Given the description of an element on the screen output the (x, y) to click on. 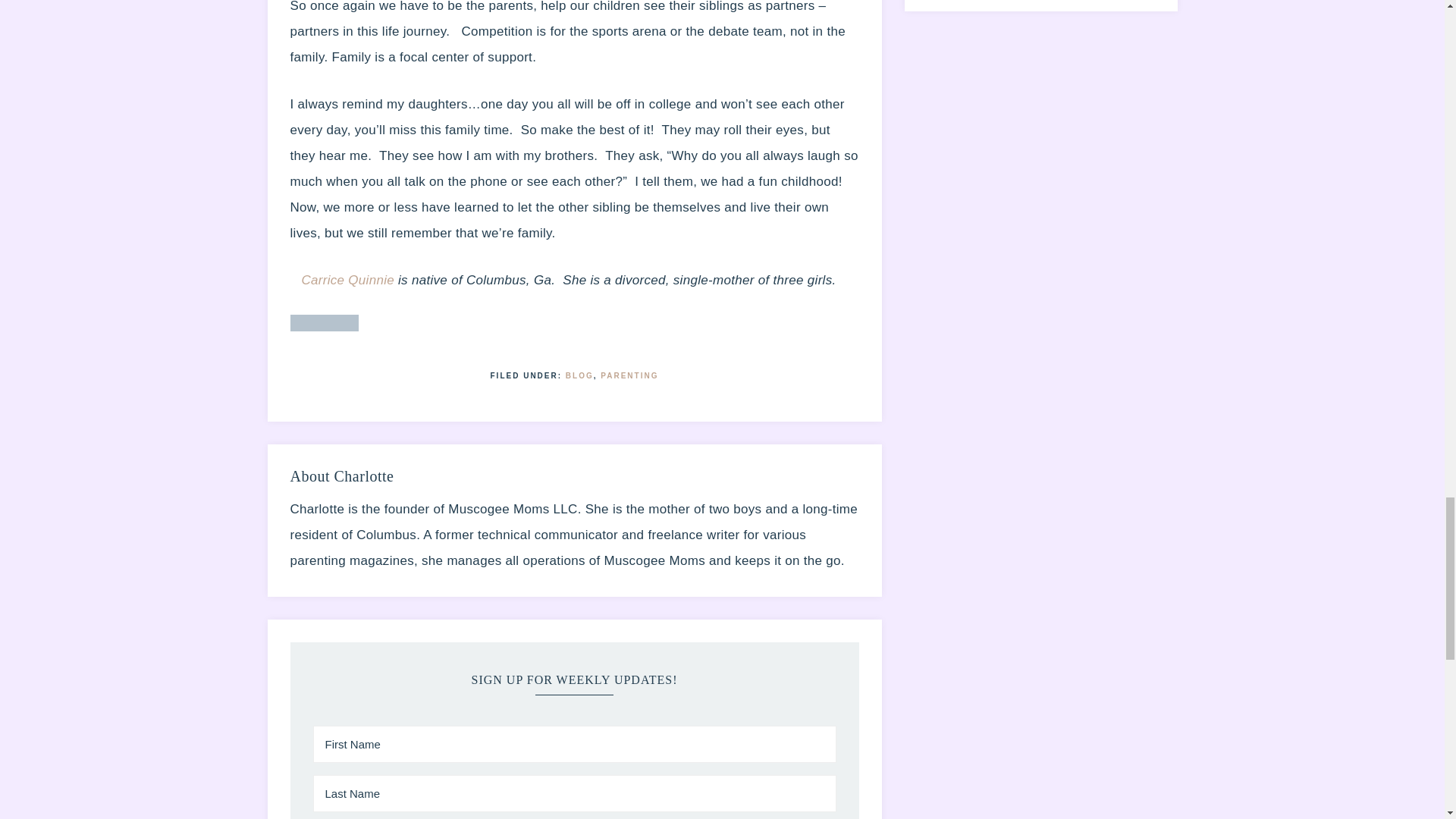
Carrice Quinnie (347, 279)
PARENTING (628, 375)
BLOG (580, 375)
